Given the description of an element on the screen output the (x, y) to click on. 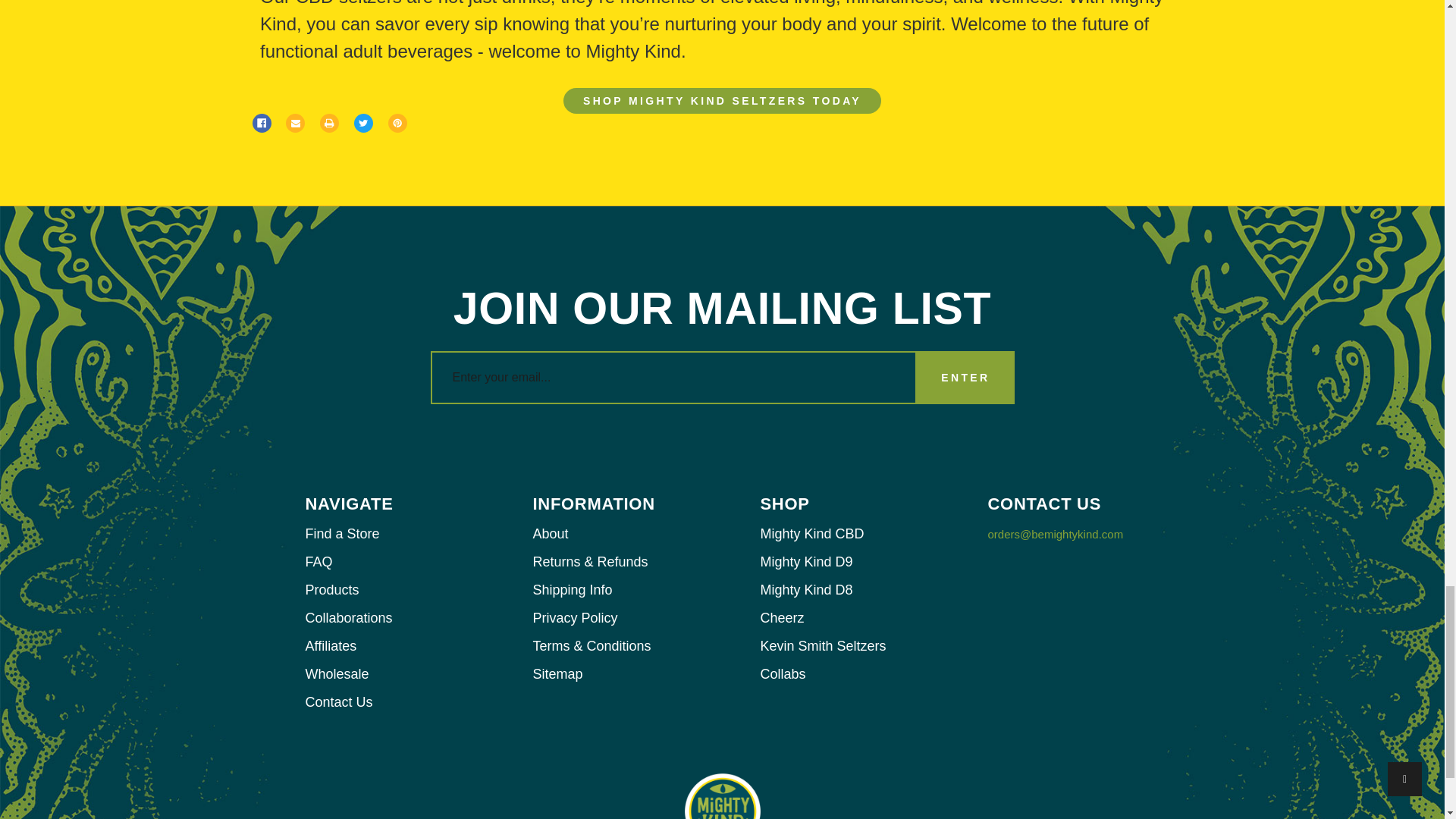
asd (260, 122)
Email (294, 122)
Pinterest (397, 122)
Print (329, 122)
SHOP MIGHTY KIND SELTZERS TODAY (721, 100)
Enter (965, 377)
Twitter (362, 122)
Facebook (260, 122)
